Given the description of an element on the screen output the (x, y) to click on. 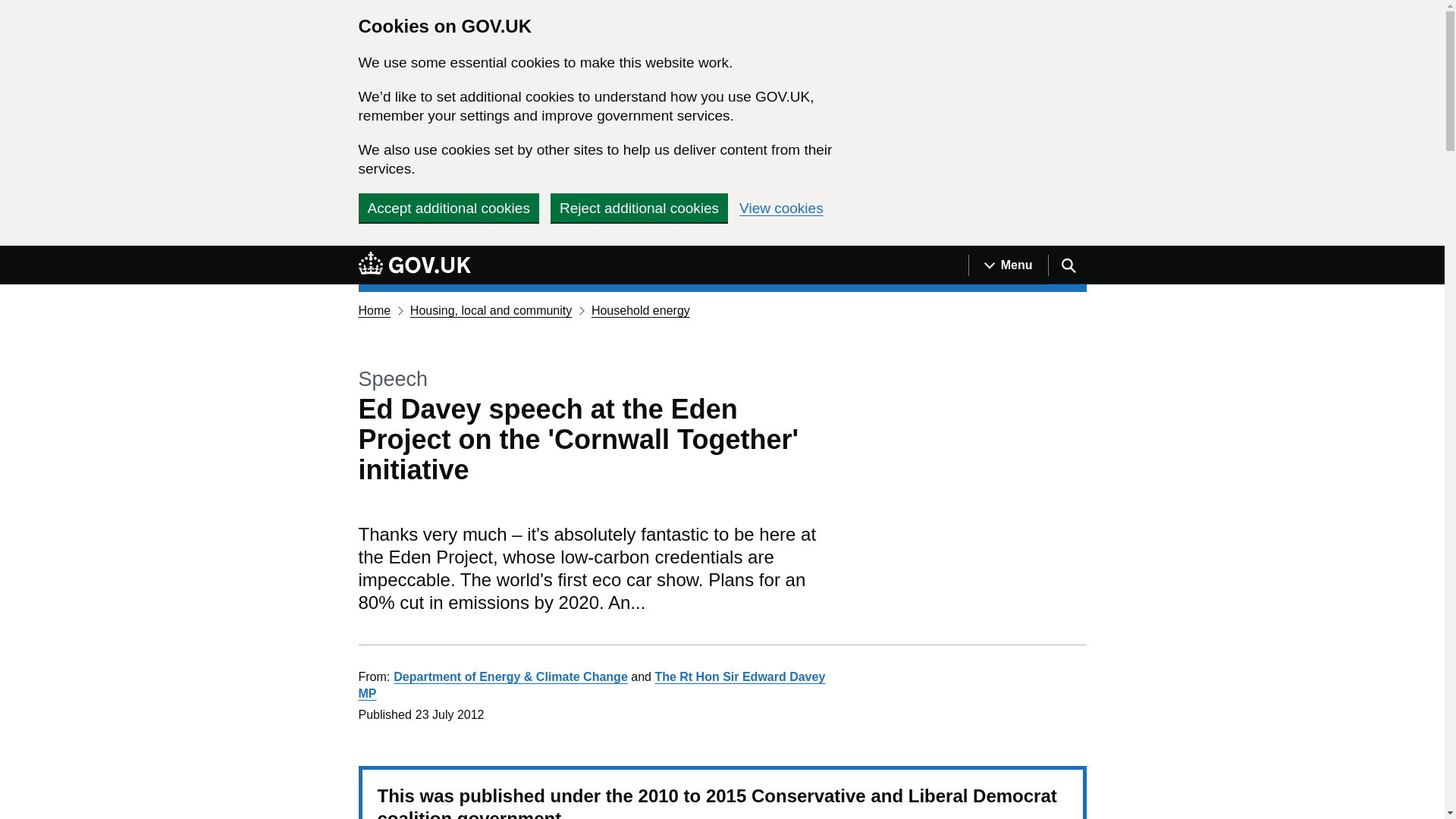
Reject additional cookies (639, 207)
Accept additional cookies (448, 207)
Menu (1008, 265)
Skip to main content (11, 254)
GOV.UK (414, 262)
Housing, local and community (491, 309)
Search GOV.UK (1067, 265)
The Rt Hon Sir Edward Davey MP (591, 685)
View cookies (781, 207)
Household energy (640, 309)
GOV.UK (414, 264)
Home (374, 309)
